Given the description of an element on the screen output the (x, y) to click on. 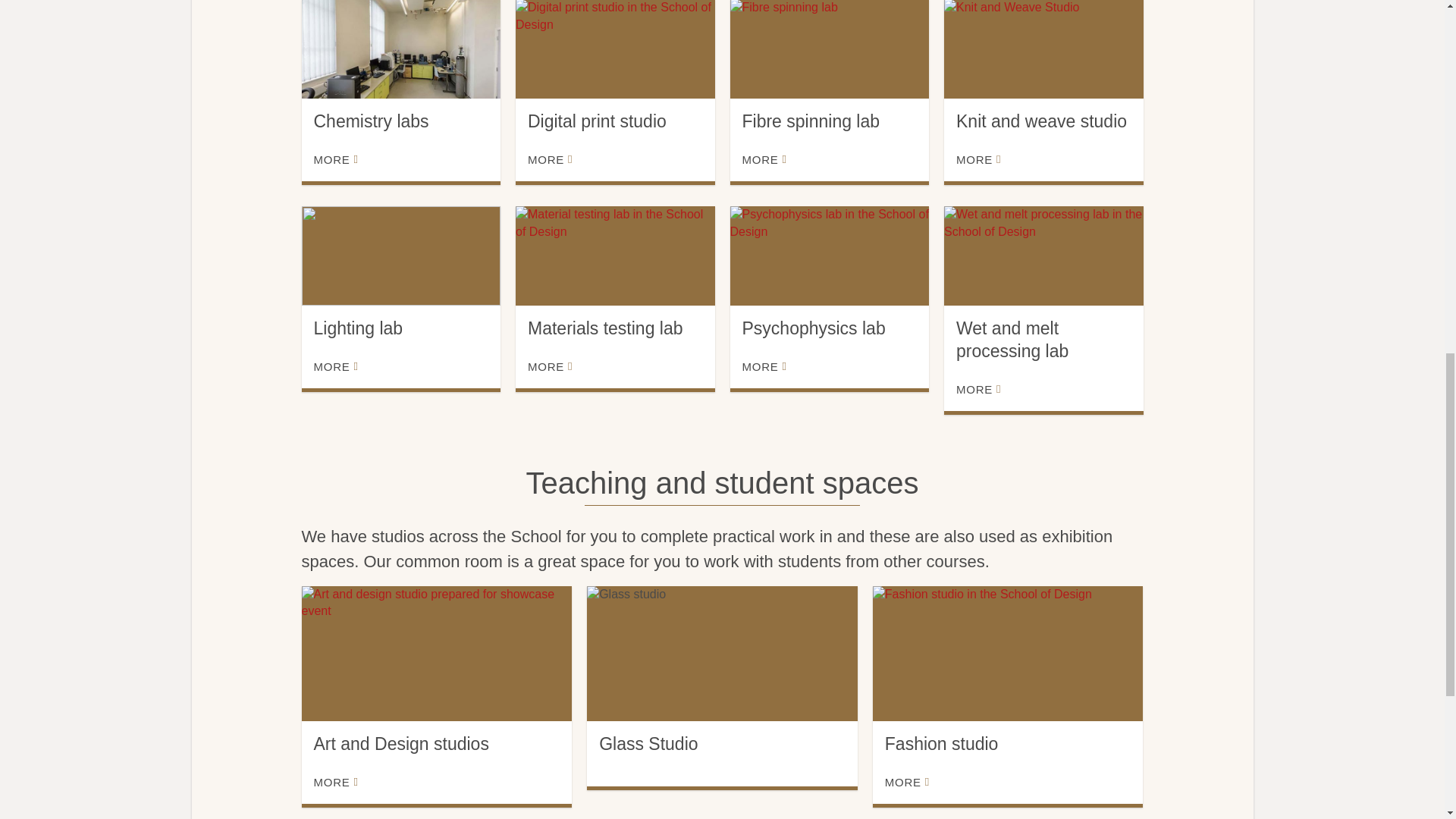
Chemistry labs  (400, 49)
More on Fibre spinning lab (763, 159)
More on Art and Design studios  (336, 782)
Materials testing lab (614, 255)
Wet and melt processing lab (1042, 255)
Digital print studio (614, 49)
Fibre spinning lab (828, 49)
More on Materials testing lab (549, 366)
Knit and weave studio  (1042, 49)
Lighting lab (400, 255)
